Given the description of an element on the screen output the (x, y) to click on. 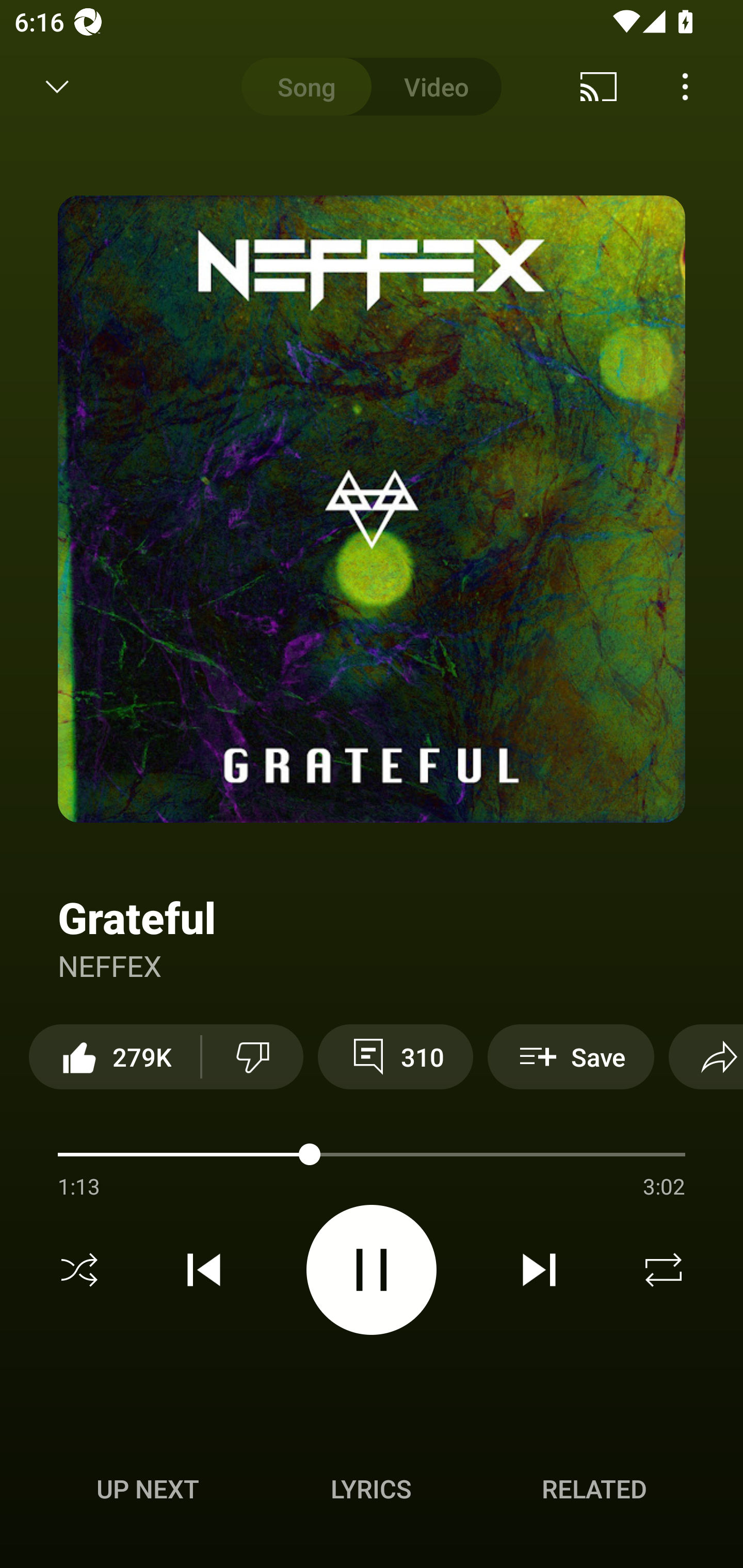
Minimize (57, 86)
Cast. Disconnected (598, 86)
Menu (684, 86)
Dislike (252, 1056)
310 View 310 comments (395, 1056)
Save Save to playlist (570, 1056)
Share (705, 1056)
Pause video (371, 1269)
Shuffle off (79, 1269)
Previous track (203, 1269)
Next track (538, 1269)
Repeat off (663, 1269)
Up next UP NEXT Lyrics LYRICS Related RELATED (371, 1491)
Lyrics LYRICS (370, 1488)
Related RELATED (594, 1488)
